Given the description of an element on the screen output the (x, y) to click on. 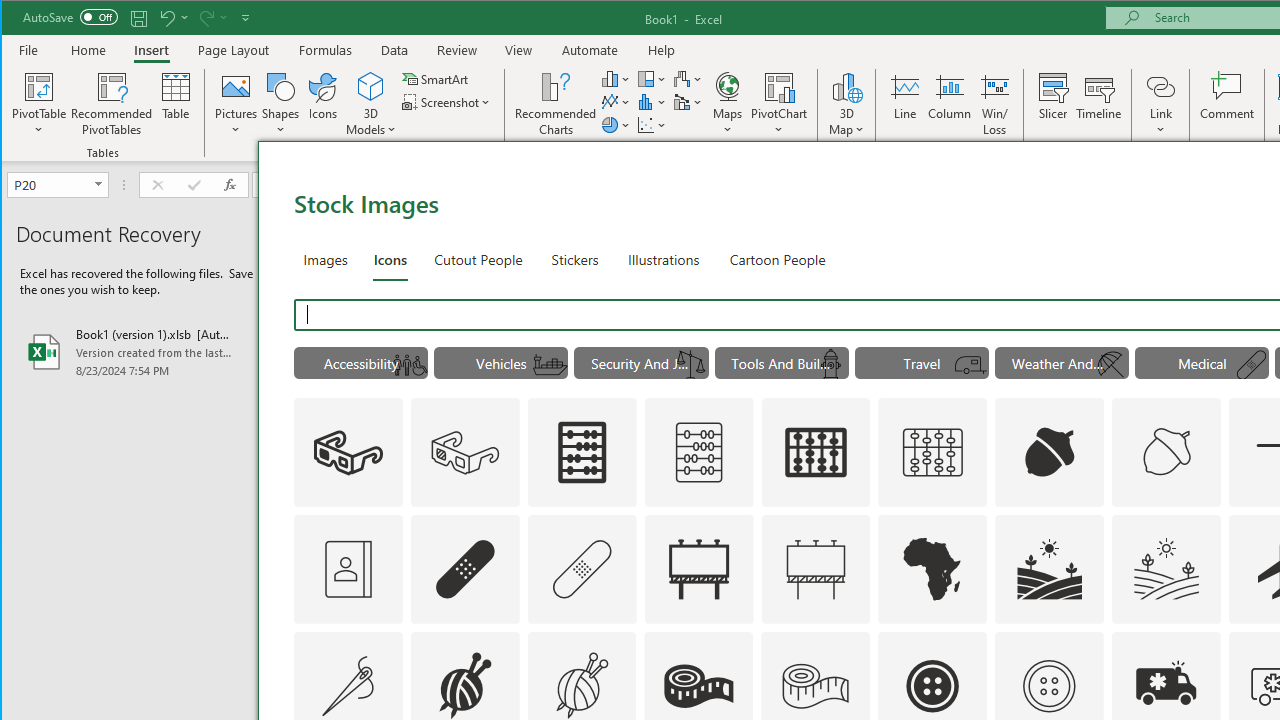
AutomationID: Icons_Agriculture (1049, 568)
SmartArt... (436, 78)
Insert Column or Bar Chart (616, 78)
Screenshot (447, 101)
Recommended Charts (556, 104)
Link (1160, 86)
AutomationID: Icons_Africa (932, 568)
AutomationID: Icons_Abacus1_M (932, 452)
Comment (1227, 104)
"Travel" Icons. (922, 362)
Link (1160, 104)
